Given the description of an element on the screen output the (x, y) to click on. 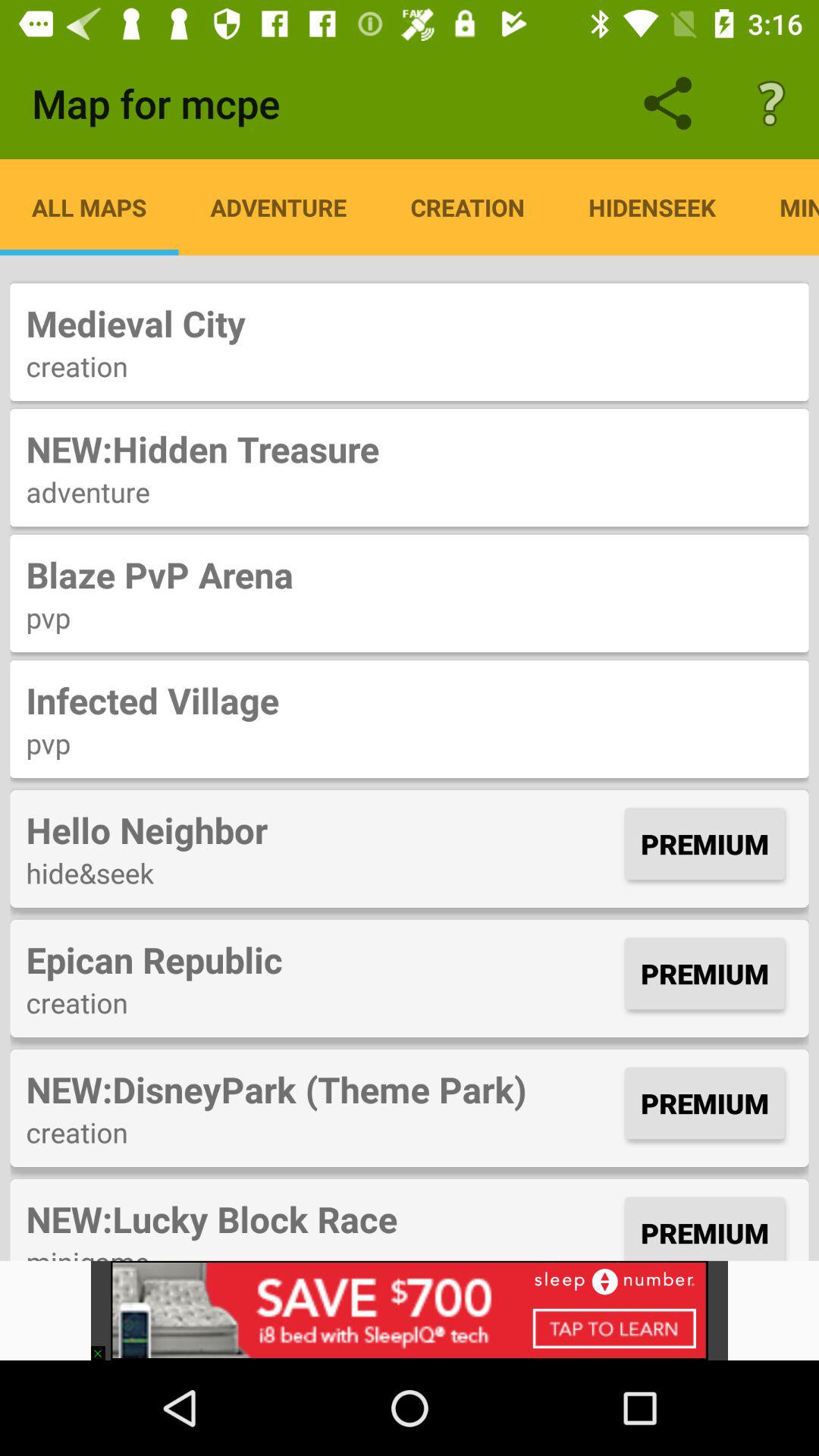
choose the icon above pvp (409, 574)
